Given the description of an element on the screen output the (x, y) to click on. 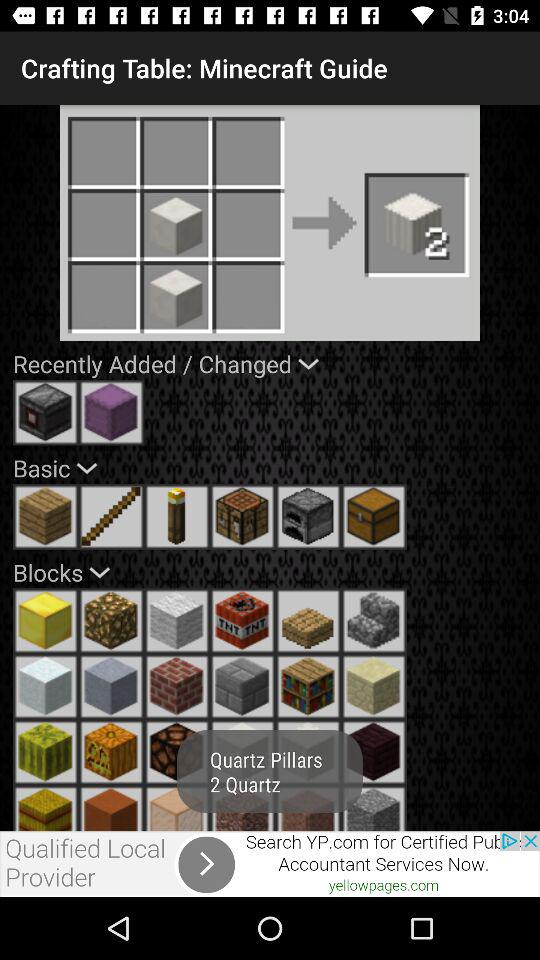
item in item list (242, 808)
